Given the description of an element on the screen output the (x, y) to click on. 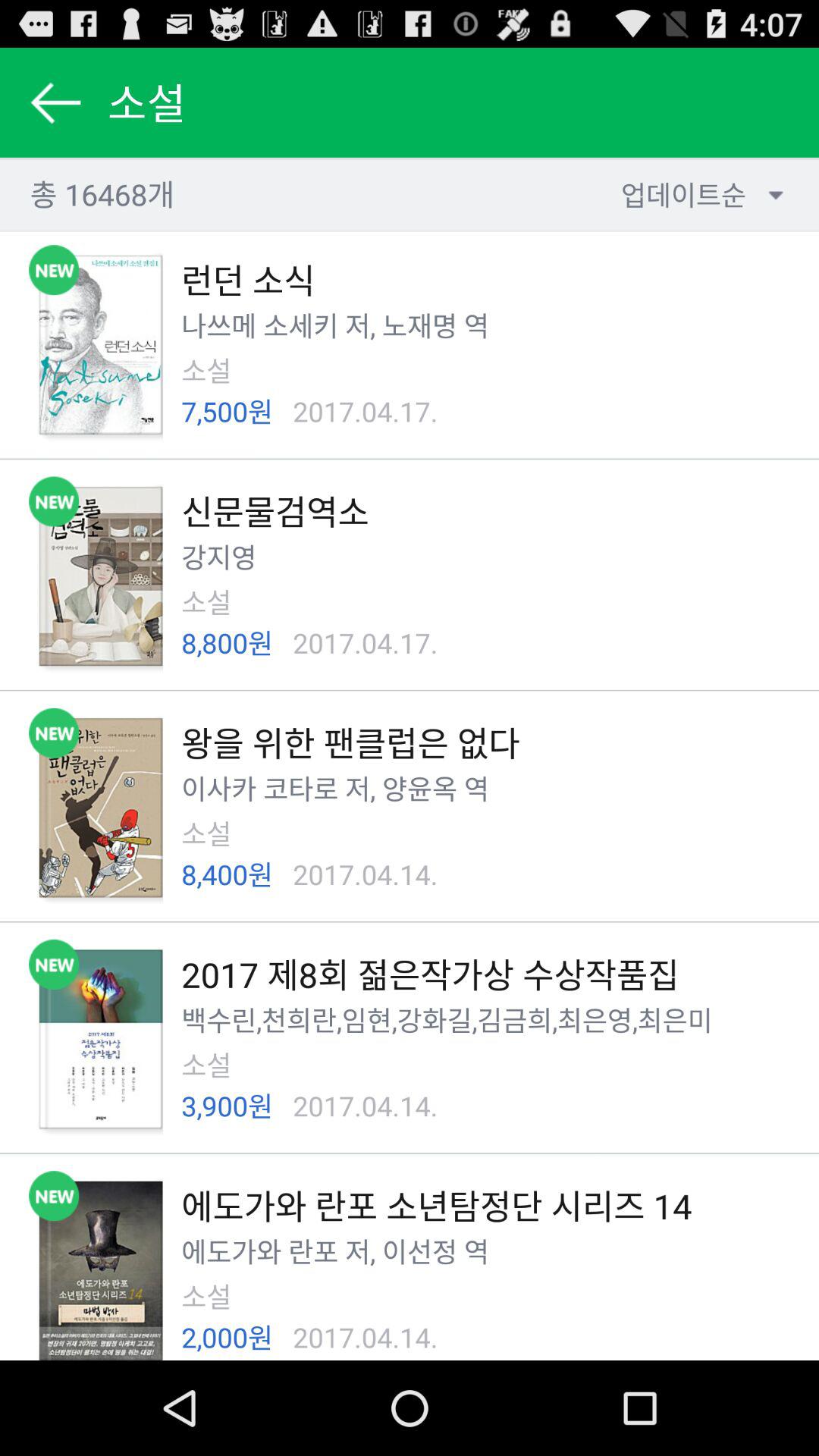
press the app to the left of the 2017.04.14. icon (227, 1336)
